Given the description of an element on the screen output the (x, y) to click on. 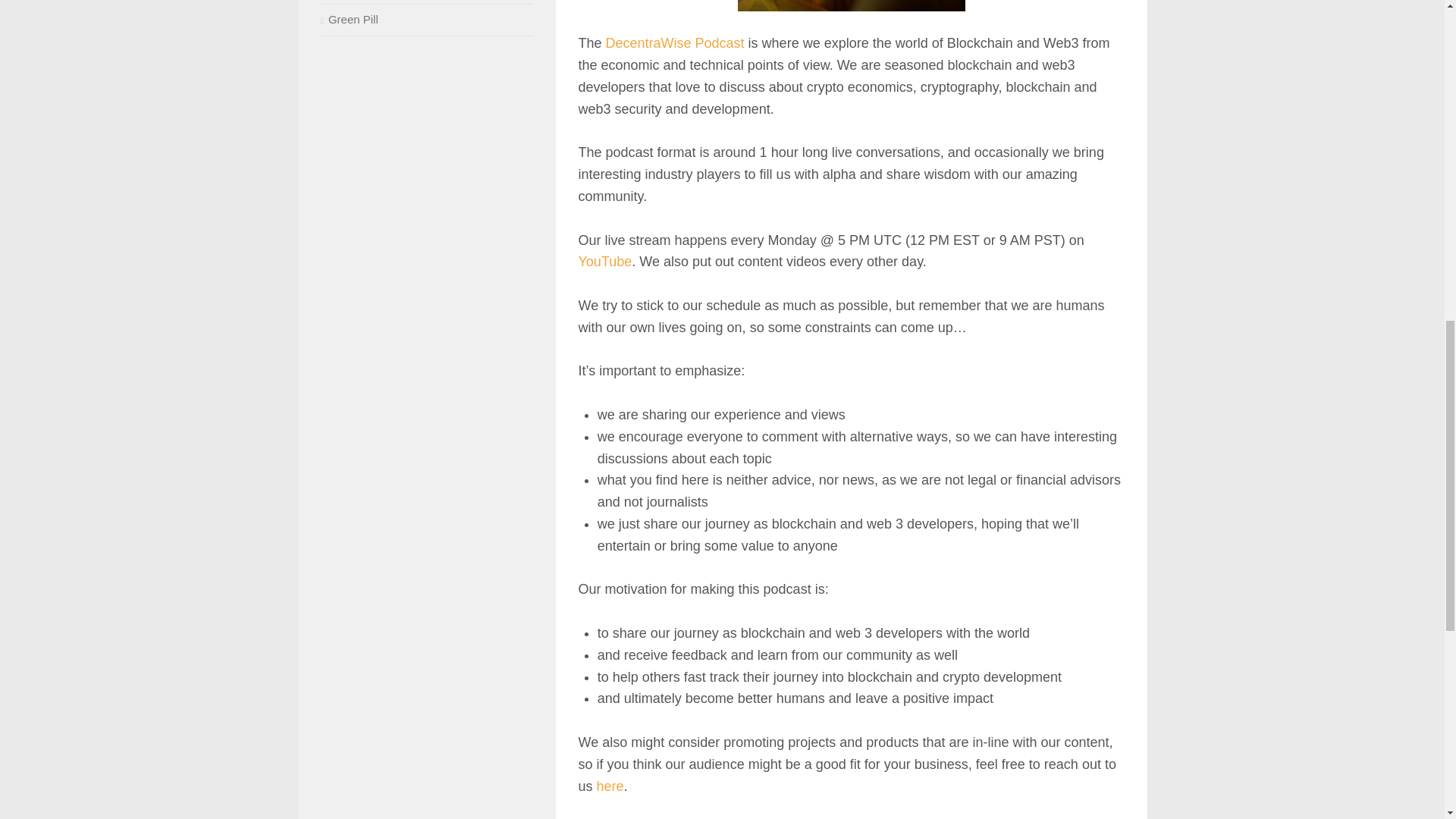
YouTube (604, 261)
Podcast Episodes (849, 5)
DecentraWise Podcast (674, 43)
here (610, 785)
